Given the description of an element on the screen output the (x, y) to click on. 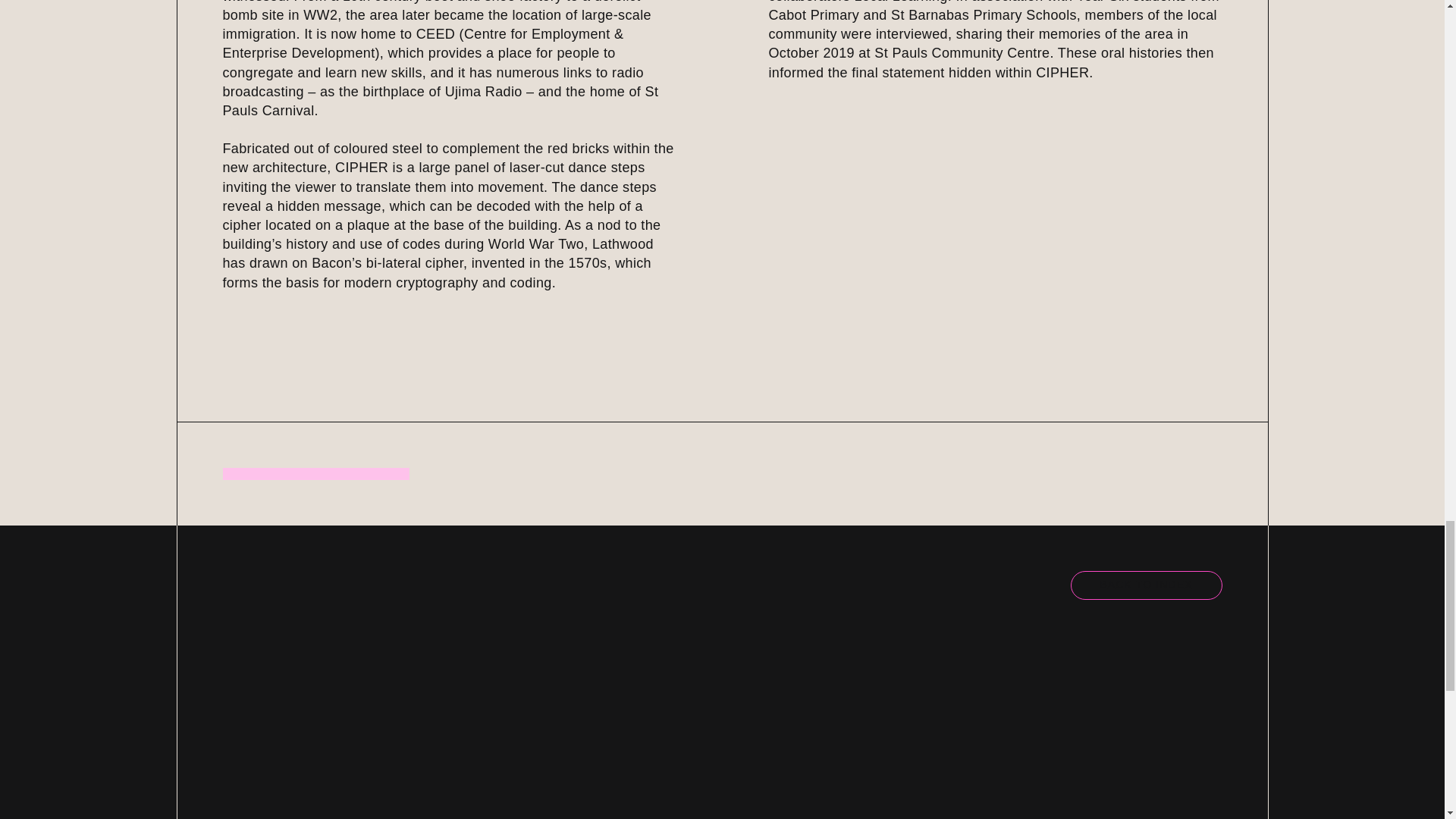
BACK TO INDEX (1146, 584)
